Given the description of an element on the screen output the (x, y) to click on. 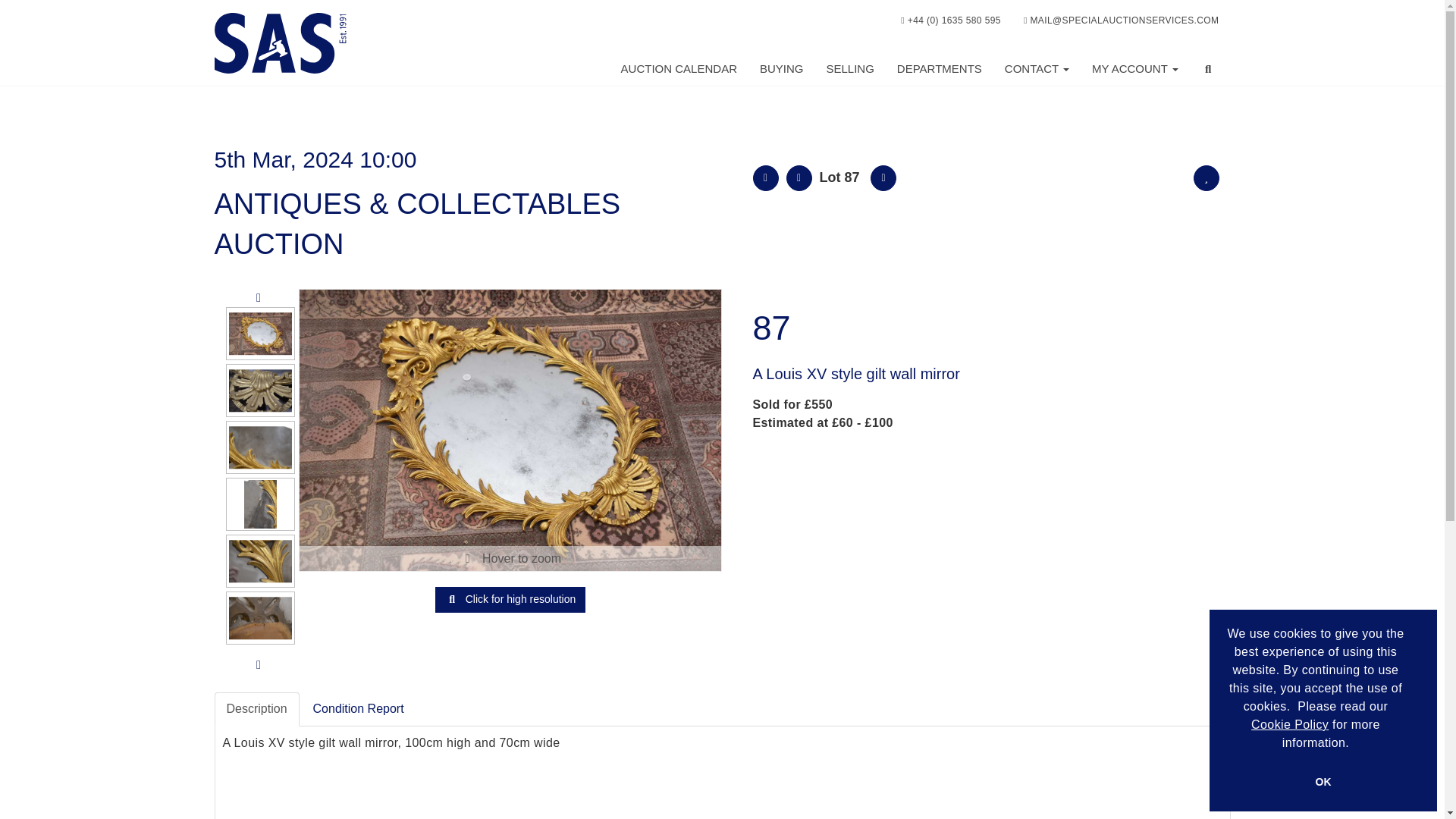
AUCTION CALENDAR (679, 68)
SELLING (849, 68)
MY ACCOUNT (1134, 68)
Click for high resolution (510, 599)
DEPARTMENTS (938, 68)
BUYING (781, 68)
CONTACT (1036, 68)
